Given the description of an element on the screen output the (x, y) to click on. 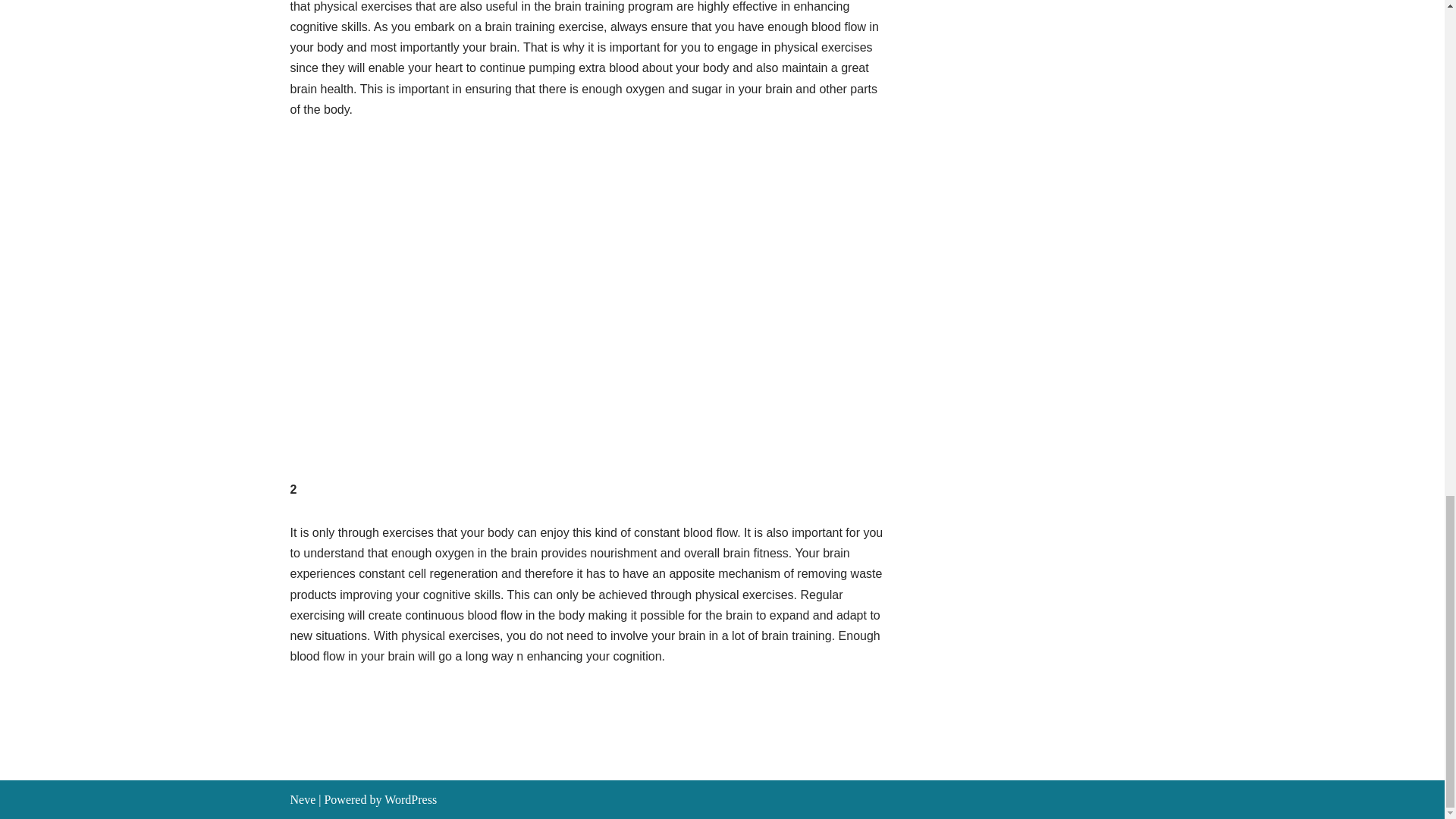
WordPress (410, 799)
Neve (302, 799)
